Given the description of an element on the screen output the (x, y) to click on. 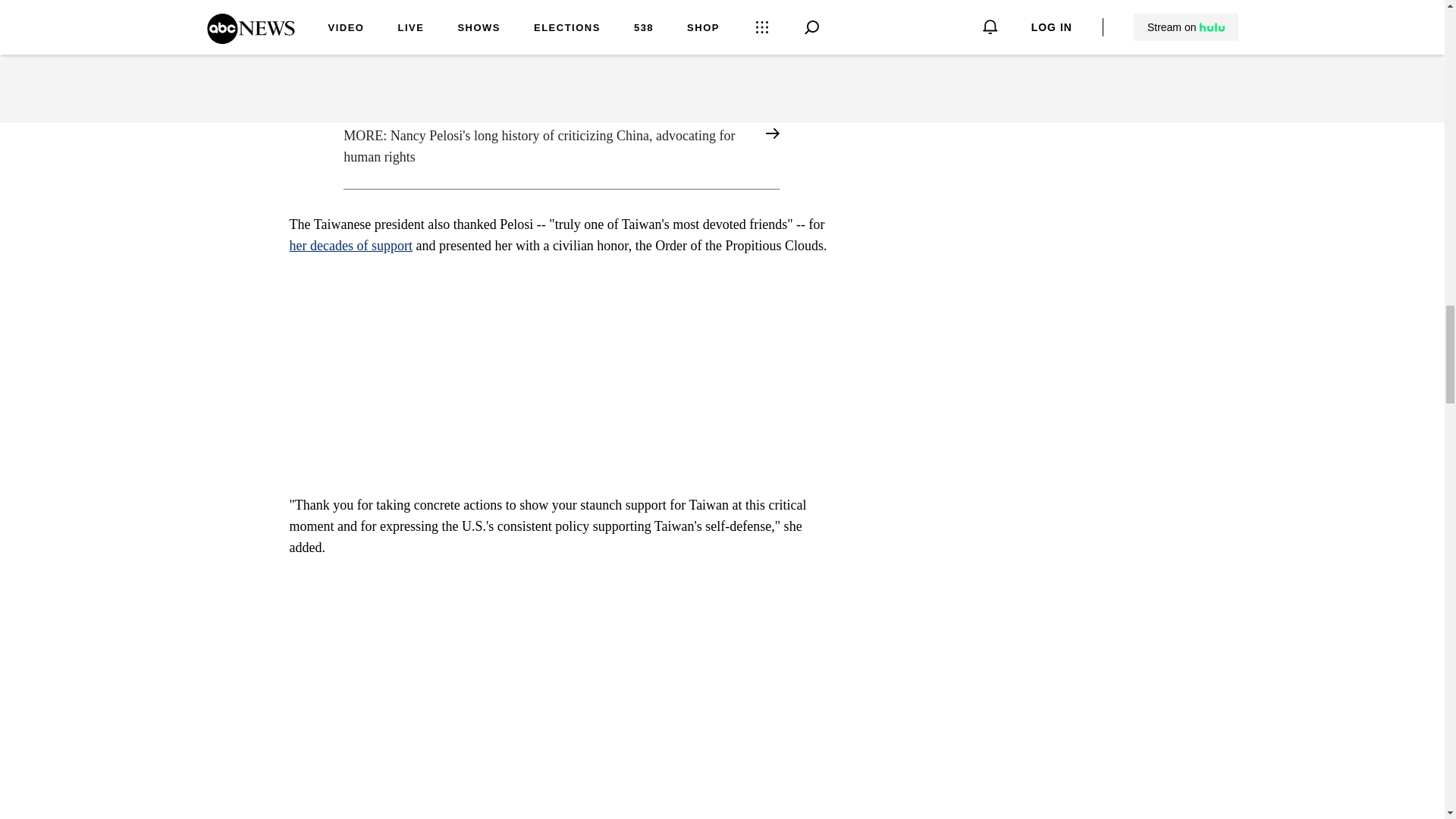
her decades of support (350, 245)
